Given the description of an element on the screen output the (x, y) to click on. 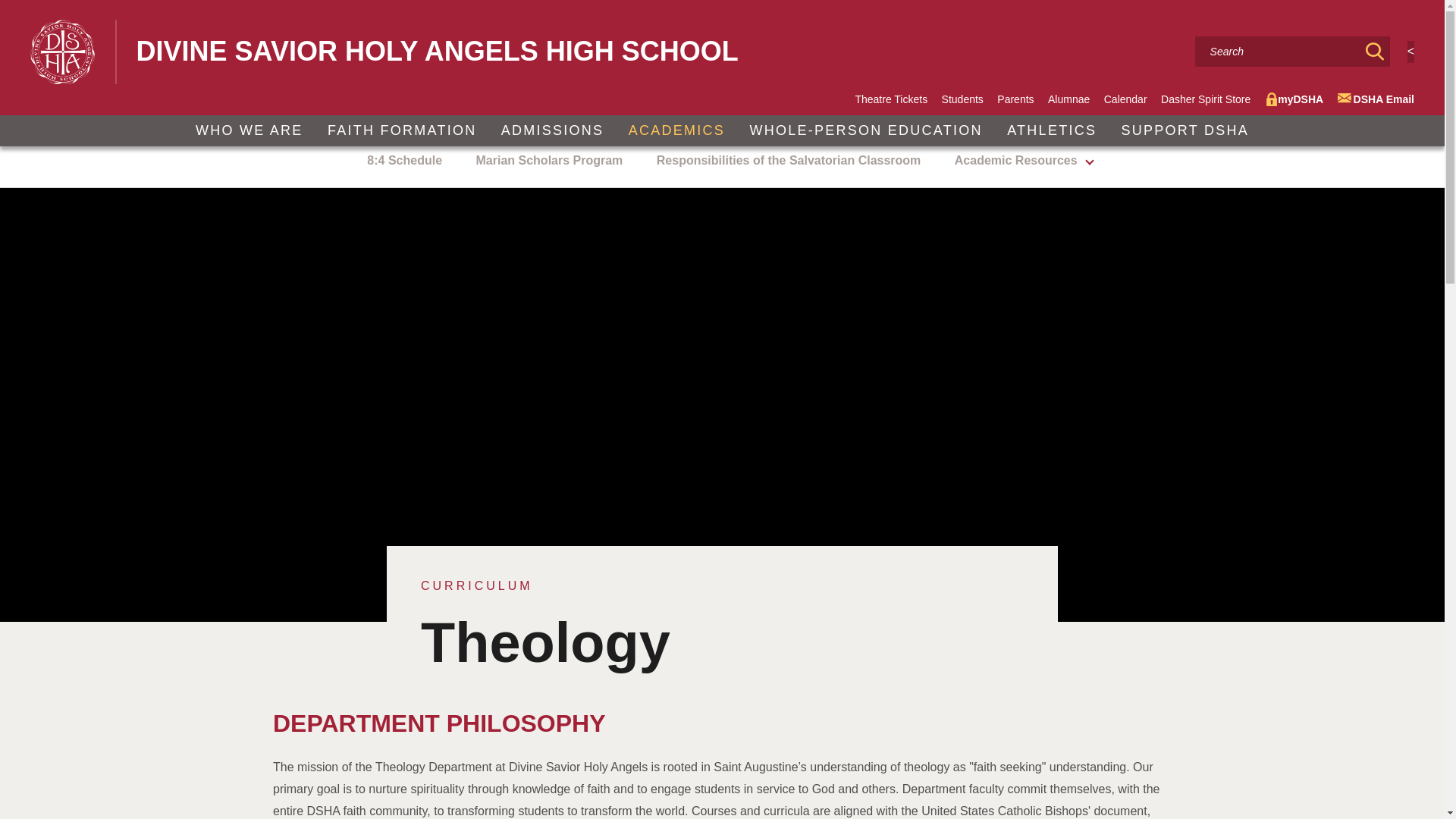
Go (1374, 51)
